Given the description of an element on the screen output the (x, y) to click on. 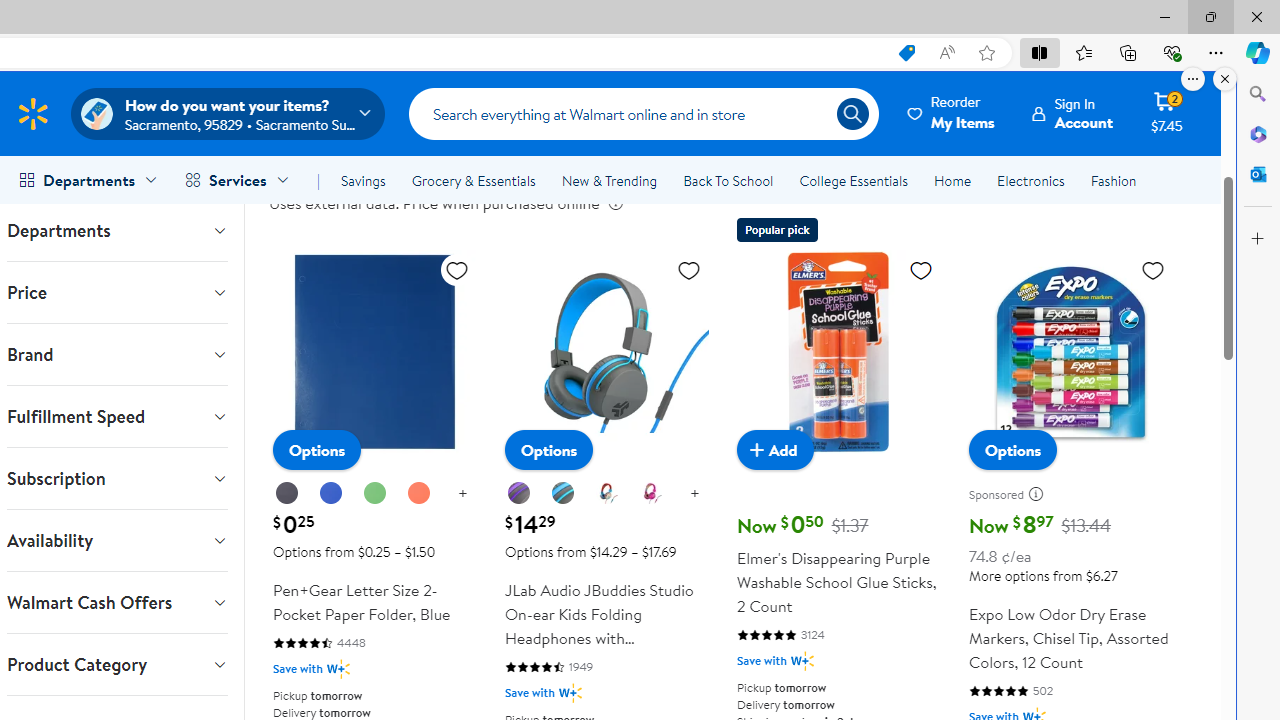
Walmart Plus (802, 660)
Gray (562, 493)
Graphite Purple (518, 493)
Cart contains 2 items Total Amount $7.45 (1166, 113)
Search icon (852, 113)
Grocery & Essentials (473, 180)
More options. (1193, 79)
Sign In Account (1072, 113)
Split screen (1039, 52)
Home (952, 180)
ReorderMy Items (952, 113)
